Given the description of an element on the screen output the (x, y) to click on. 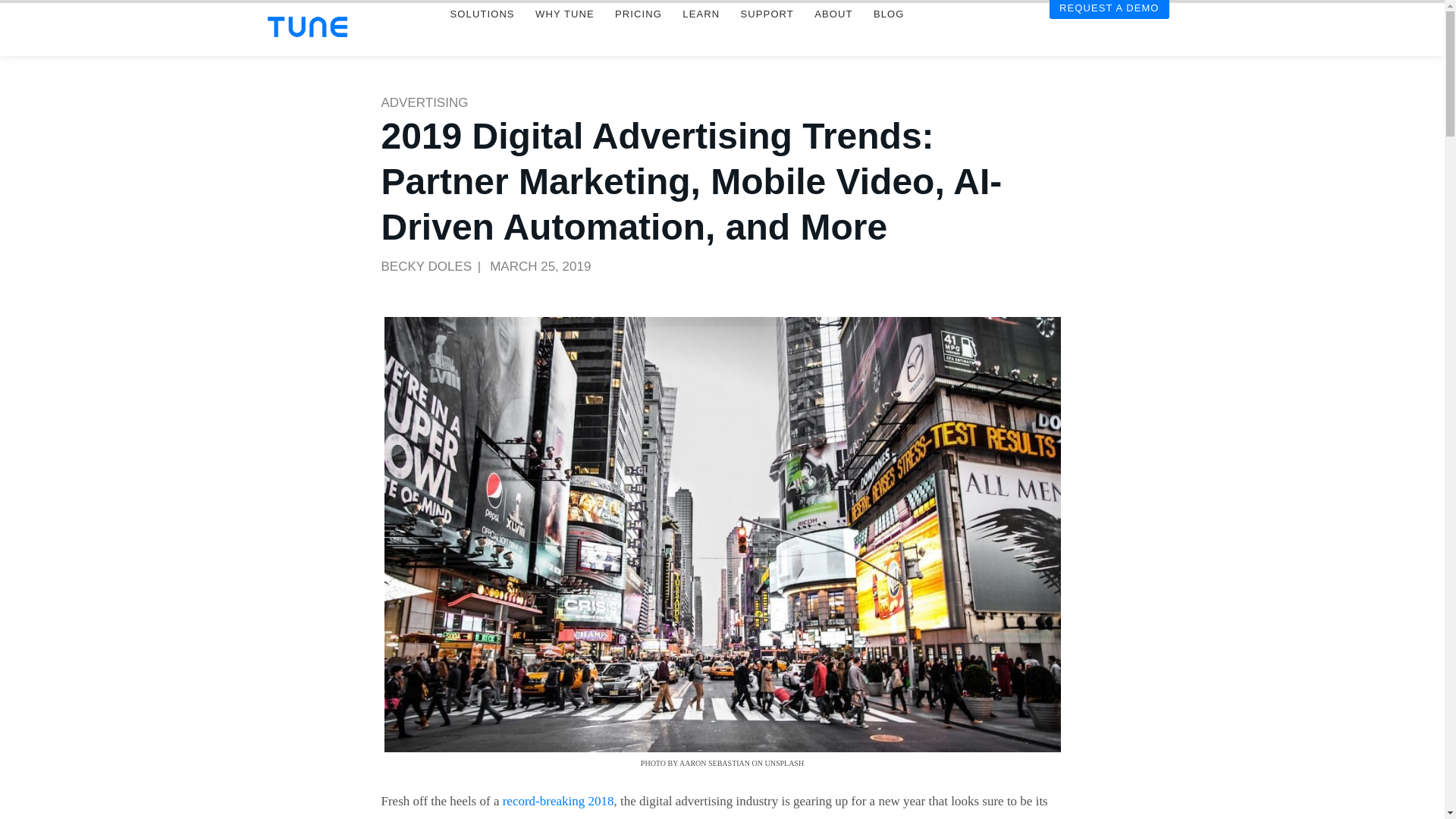
Get Started (1108, 29)
BLOG (888, 35)
ABOUT (832, 35)
Performance Marketing Platform (306, 26)
PRICING (637, 35)
SOLUTIONS (481, 35)
TUNE Blog (888, 35)
SUPPORT (767, 35)
LEARN (700, 35)
WHY TUNE (563, 35)
